Given the description of an element on the screen output the (x, y) to click on. 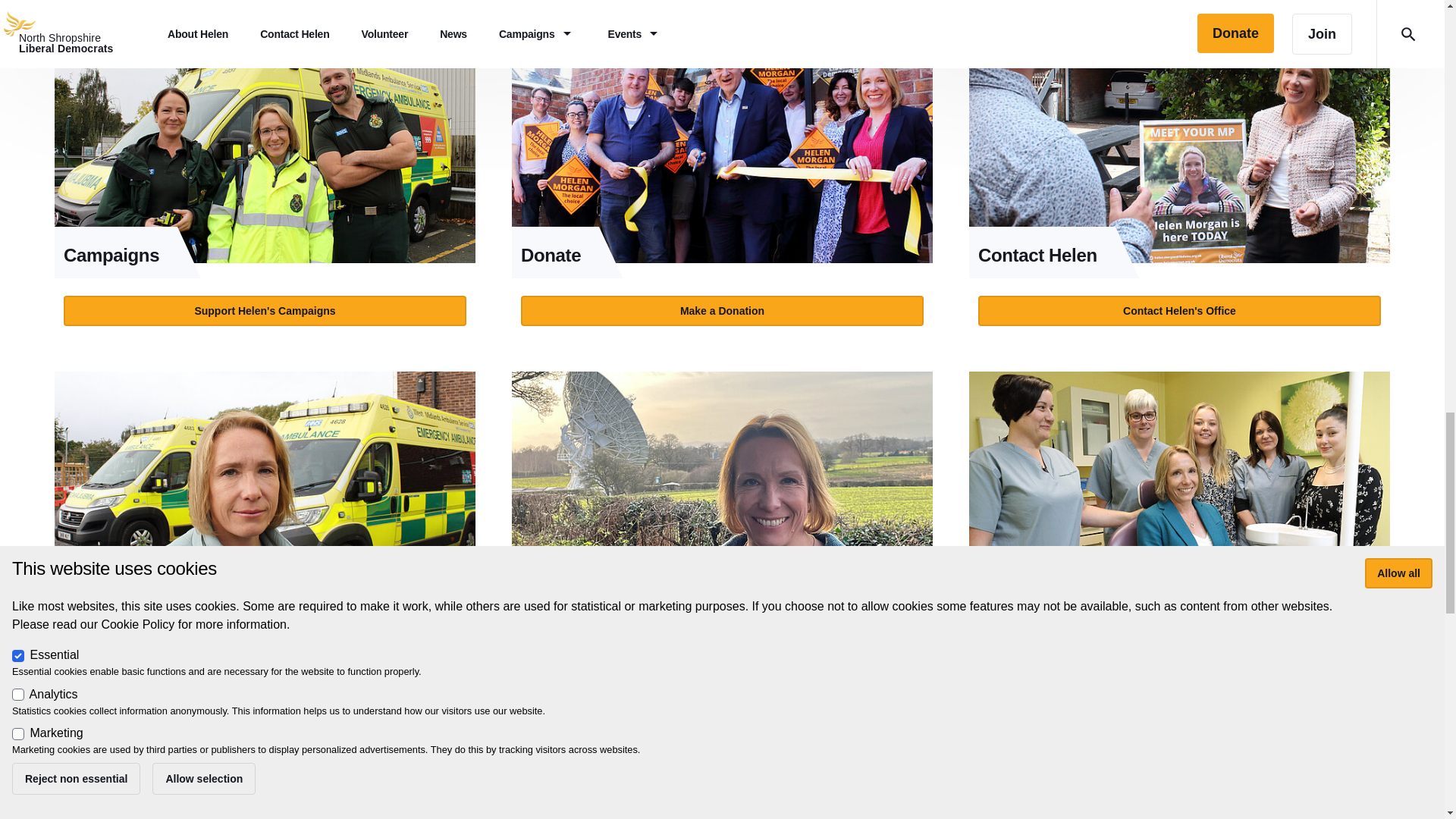
Rural Roaming Campaign (722, 489)
Support Helen's Campaigns (264, 310)
View (1179, 180)
Dental Campaign (1179, 489)
View (265, 525)
View (722, 180)
Make a Donation (722, 310)
Support Helen's Ambulance Campaign (264, 655)
View (265, 180)
Campaigns (265, 144)
Ambulance Campaign (265, 489)
Contact Helen's Office (1179, 310)
Donate (722, 144)
Contact Helen (1179, 144)
